Given the description of an element on the screen output the (x, y) to click on. 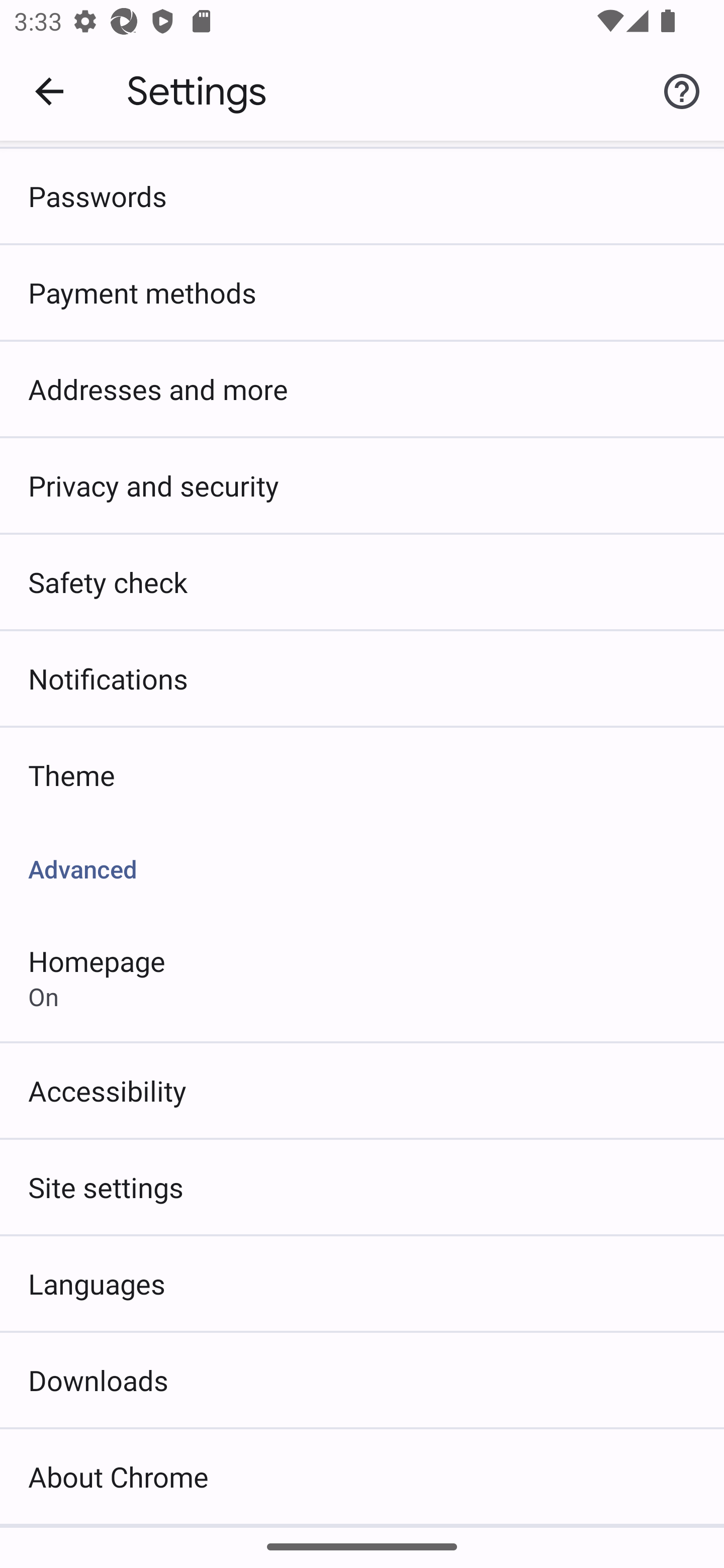
Navigate up (49, 91)
Help & feedback (681, 90)
Passwords (362, 195)
Payment methods (362, 292)
Addresses and more (362, 388)
Privacy and security (362, 485)
Safety check (362, 581)
Notifications (362, 678)
Theme (362, 774)
Homepage On (362, 977)
Accessibility (362, 1090)
Site settings (362, 1186)
Languages (362, 1283)
Downloads (362, 1379)
About Chrome (362, 1477)
